Given the description of an element on the screen output the (x, y) to click on. 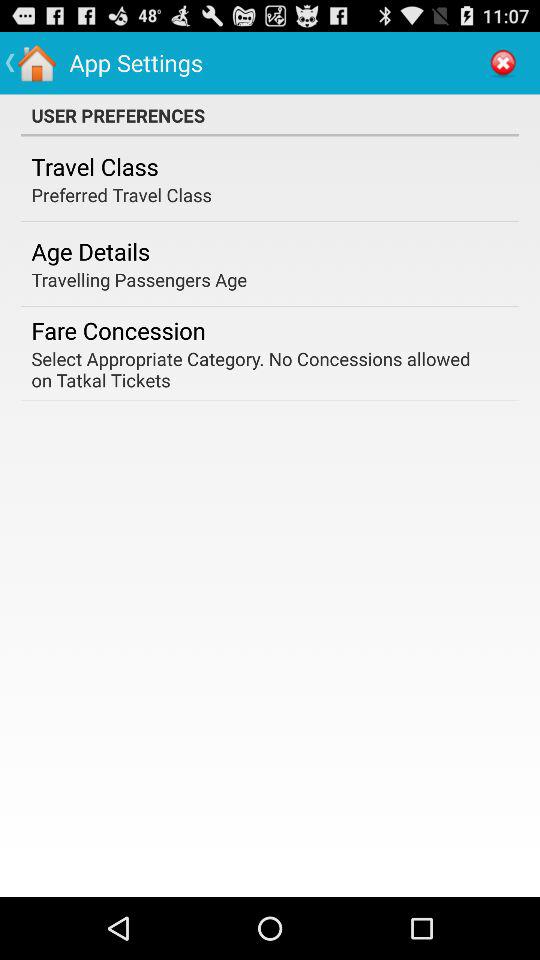
turn on the icon below the fare concession app (263, 369)
